Given the description of an element on the screen output the (x, y) to click on. 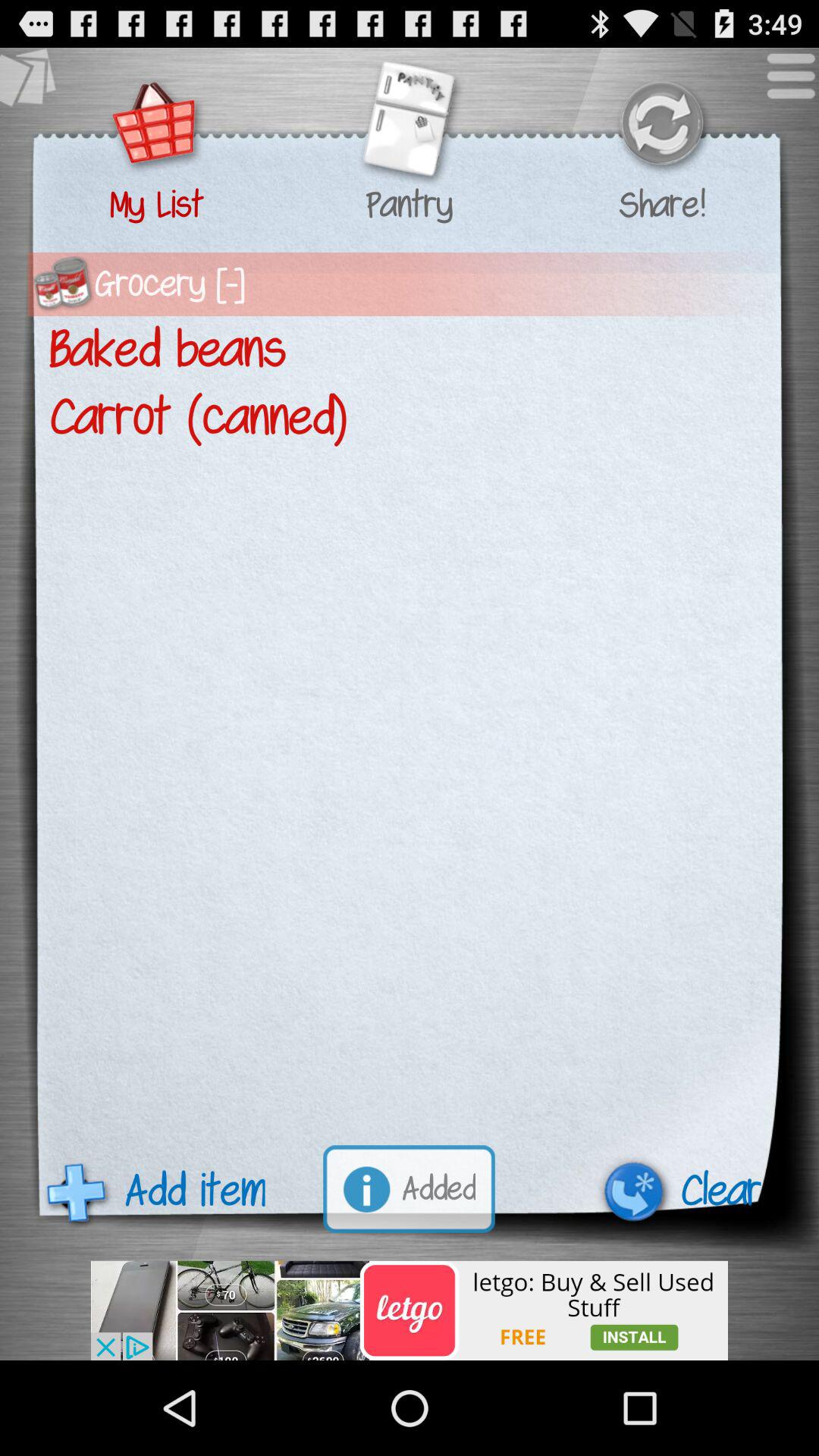
my list pantry share (408, 125)
